Given the description of an element on the screen output the (x, y) to click on. 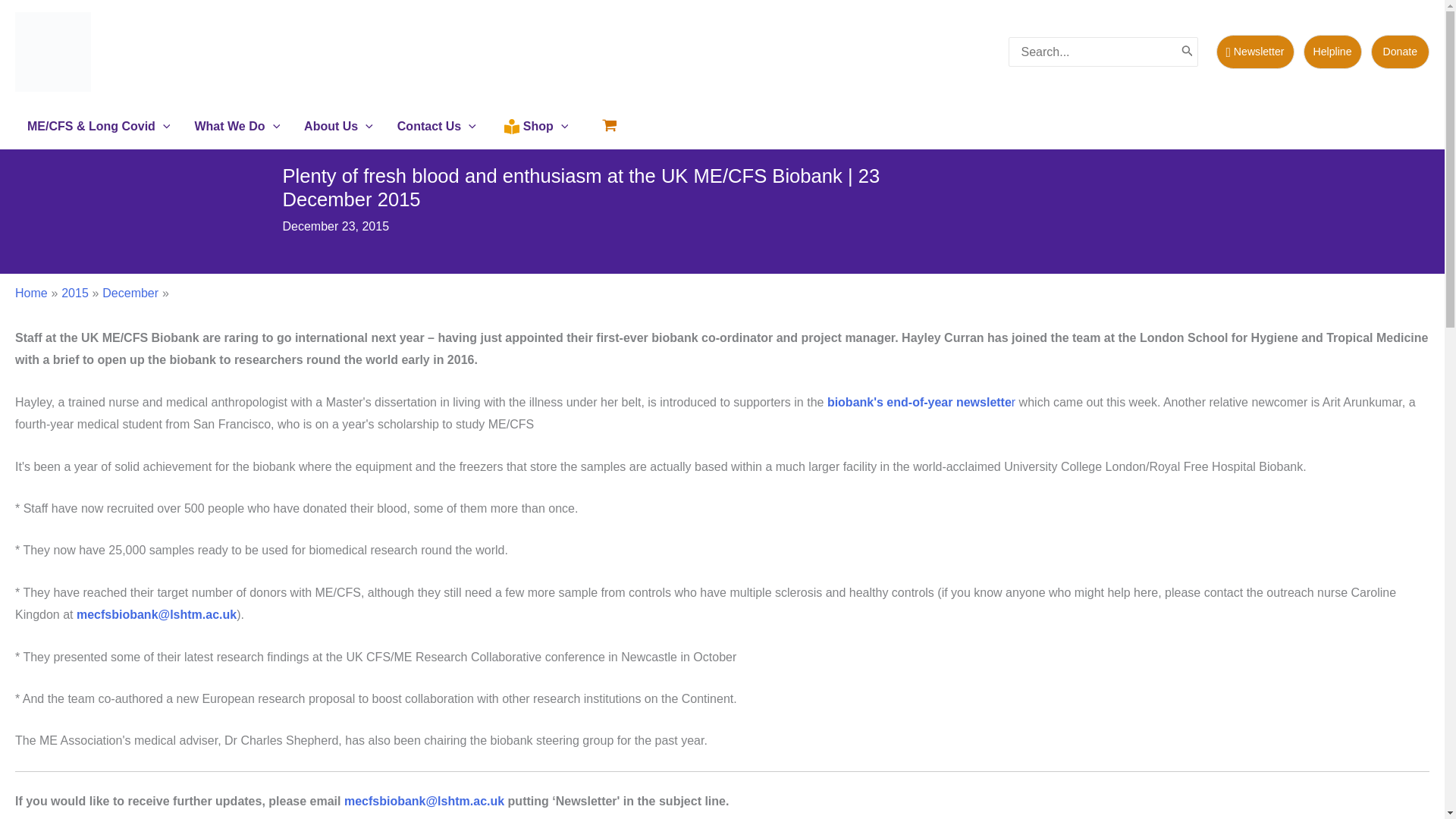
Search (1186, 51)
What We Do (237, 126)
Donate (1400, 51)
Helpline (1337, 51)
Helpline (1332, 51)
Donate (1400, 51)
Newsletter (1254, 51)
Newsletter (1259, 51)
